Given the description of an element on the screen output the (x, y) to click on. 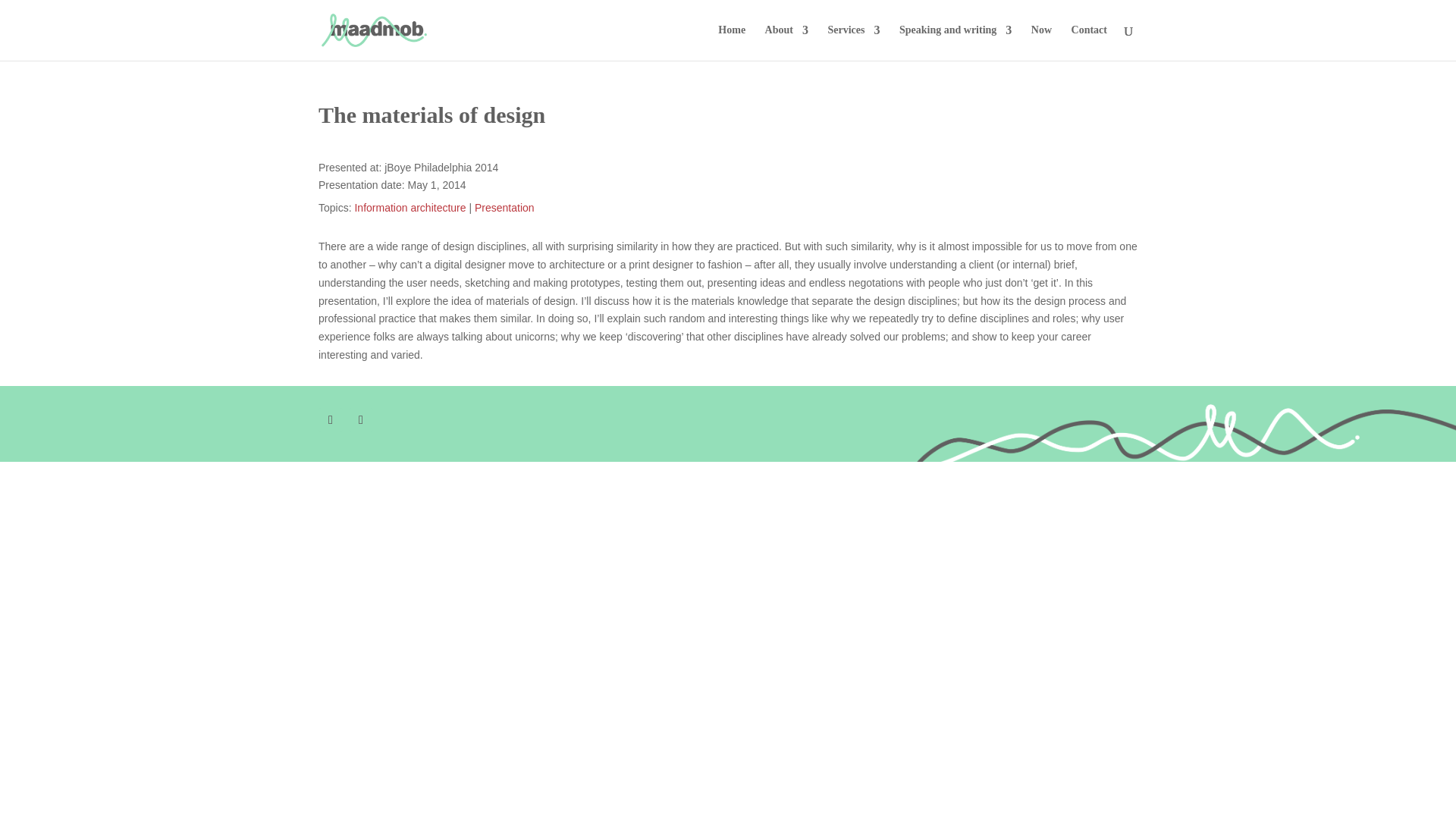
Speaking and writing (955, 42)
Follow on Twitter (330, 419)
Follow on LinkedIn (360, 419)
Services (853, 42)
Contact (1088, 42)
About (786, 42)
